Given the description of an element on the screen output the (x, y) to click on. 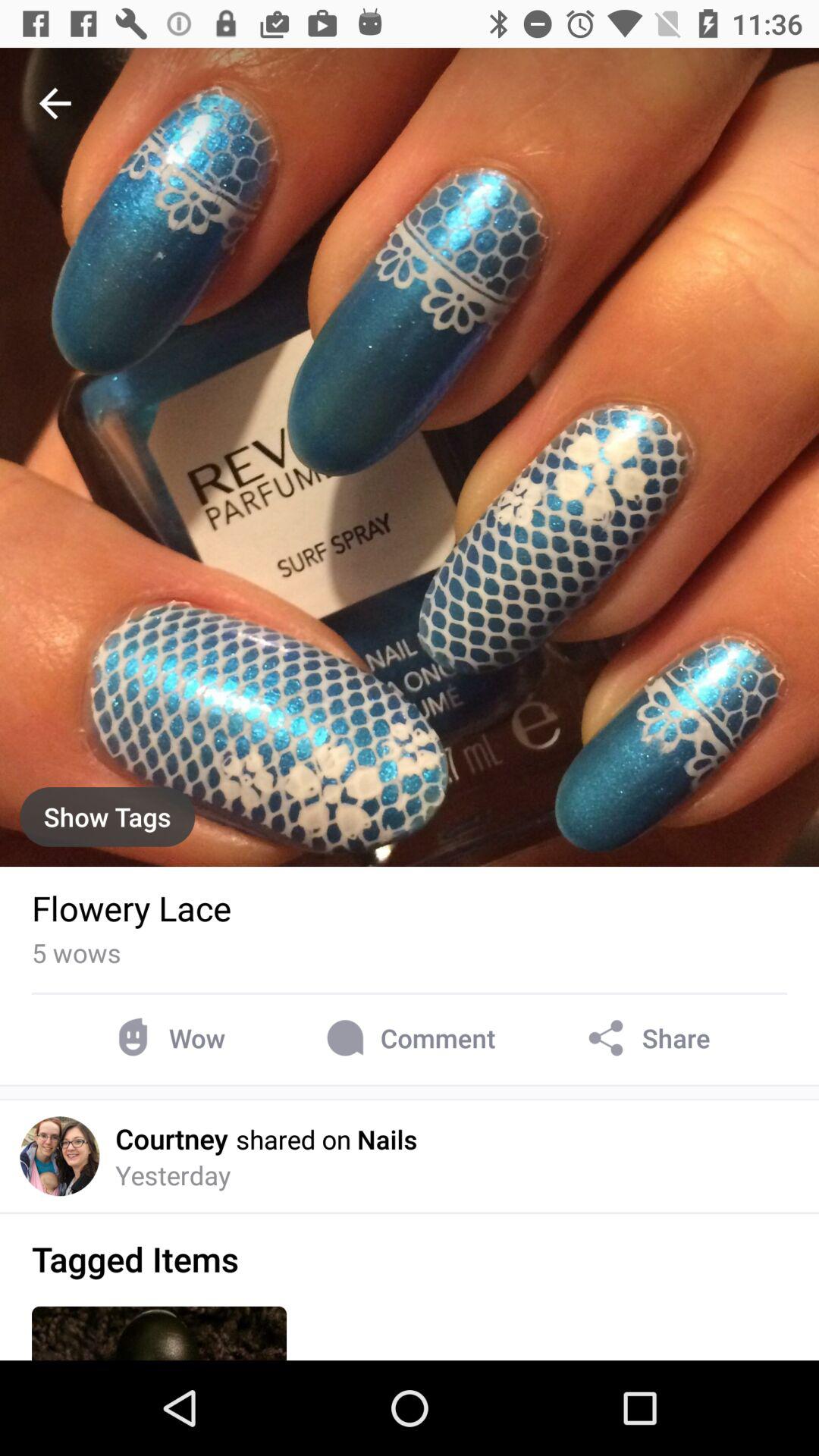
launch icon at the bottom right corner (646, 1038)
